Given the description of an element on the screen output the (x, y) to click on. 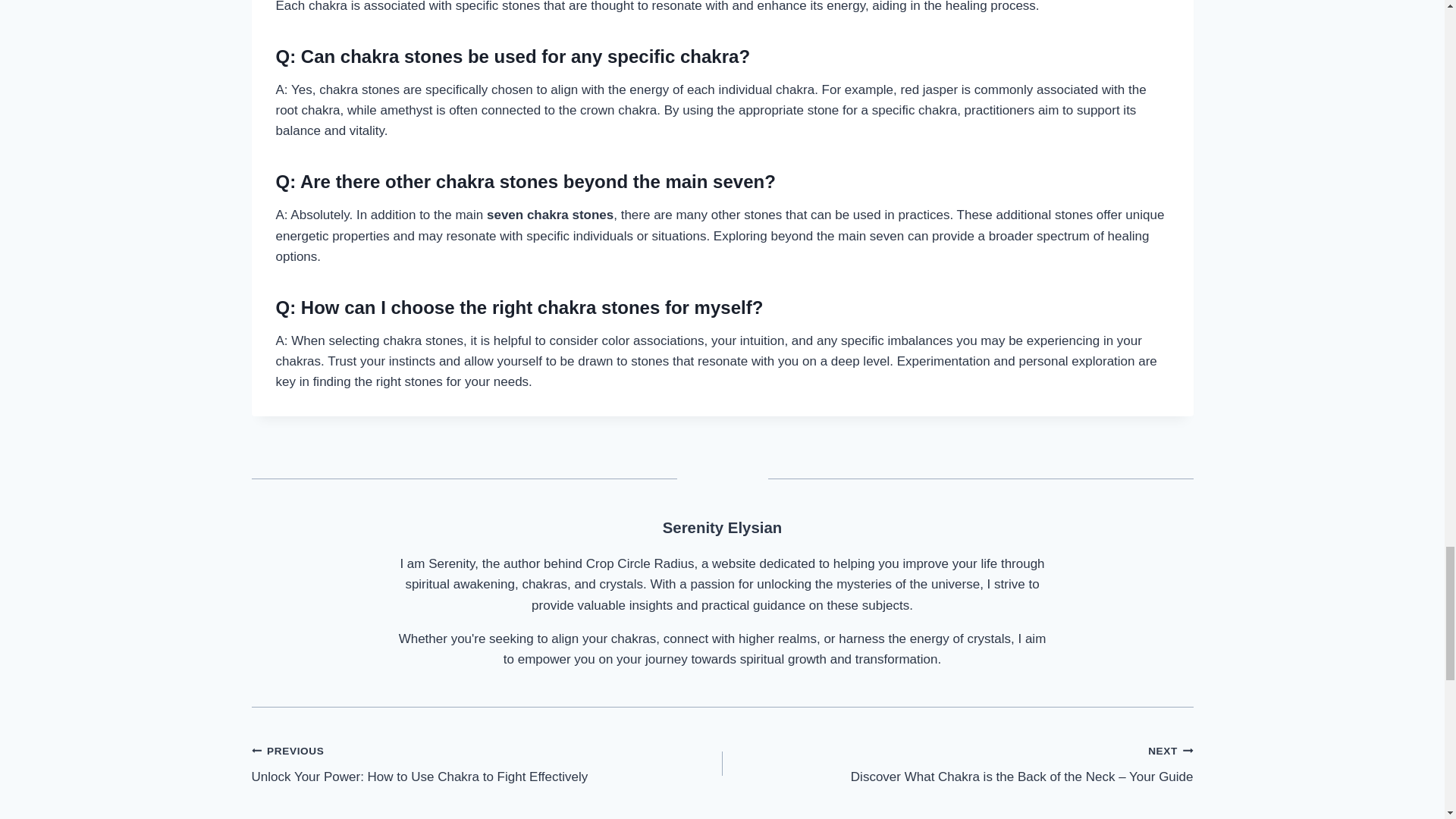
Posts by Serenity Elysian (722, 527)
Serenity Elysian (722, 527)
